Given the description of an element on the screen output the (x, y) to click on. 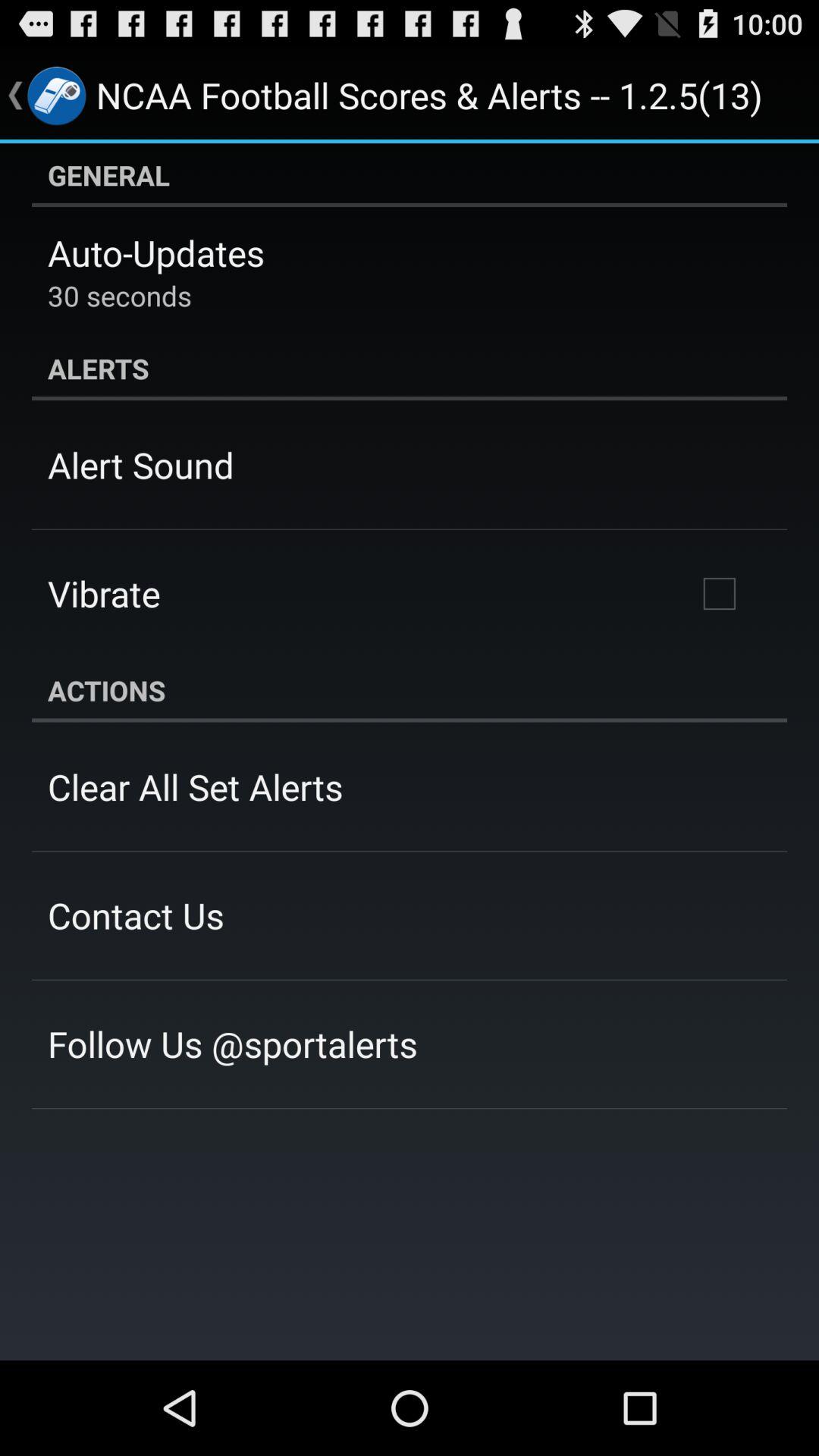
open the item below the alerts icon (719, 593)
